Given the description of an element on the screen output the (x, y) to click on. 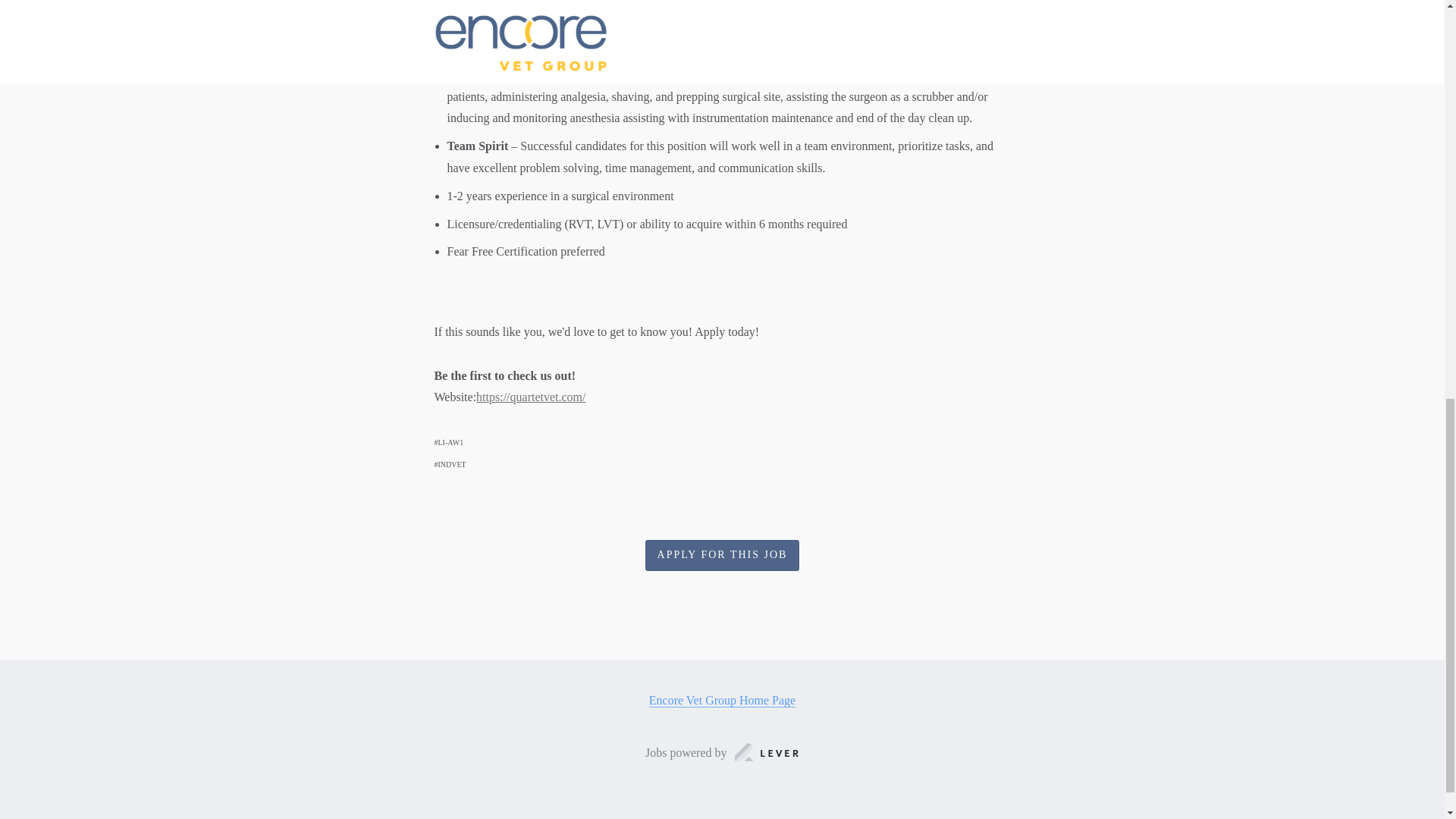
APPLY FOR THIS JOB (722, 554)
Encore Vet Group Home Page (721, 700)
Jobs powered by (722, 753)
